Given the description of an element on the screen output the (x, y) to click on. 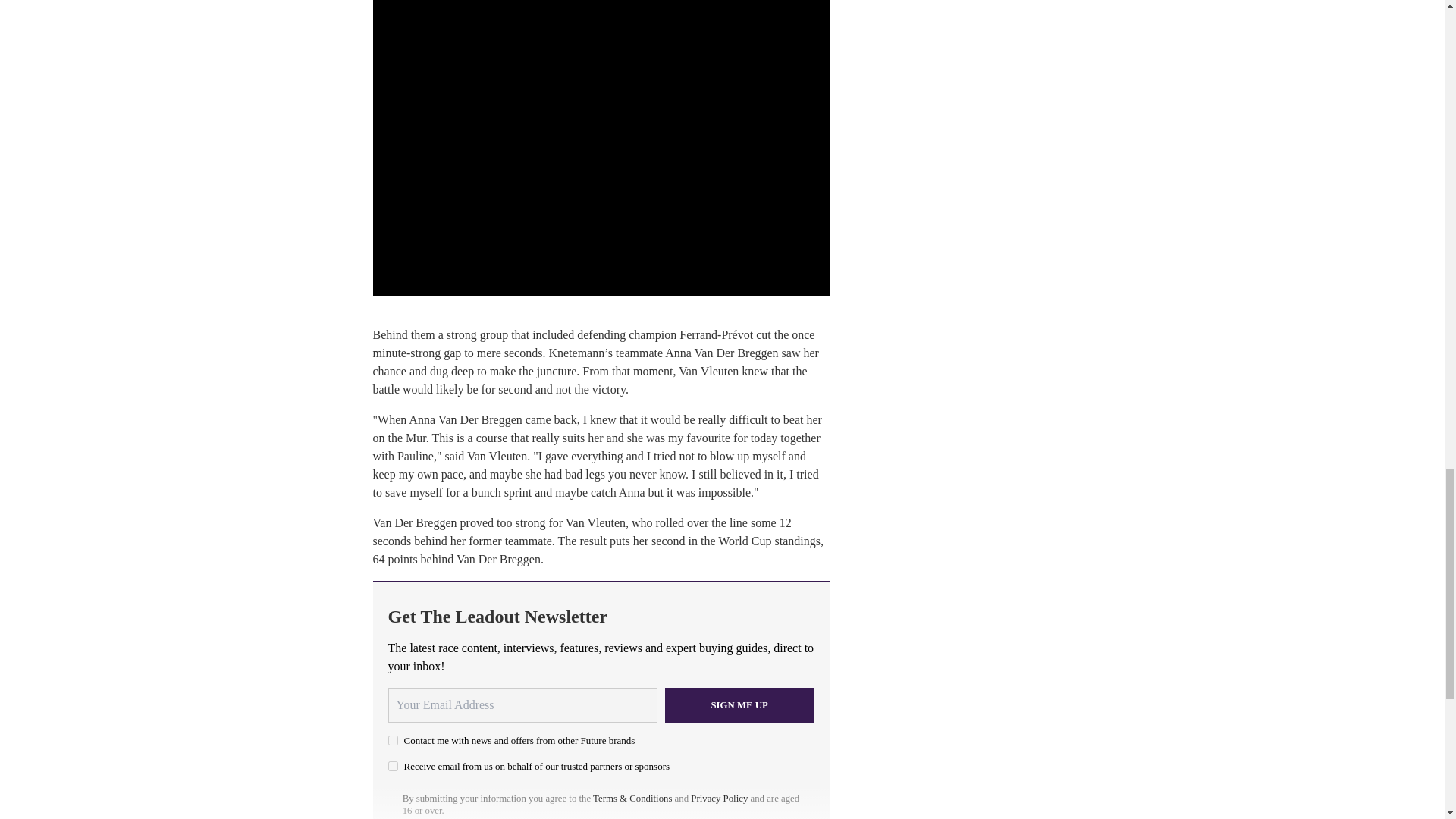
Sign me up (739, 704)
on (392, 766)
on (392, 740)
